Given the description of an element on the screen output the (x, y) to click on. 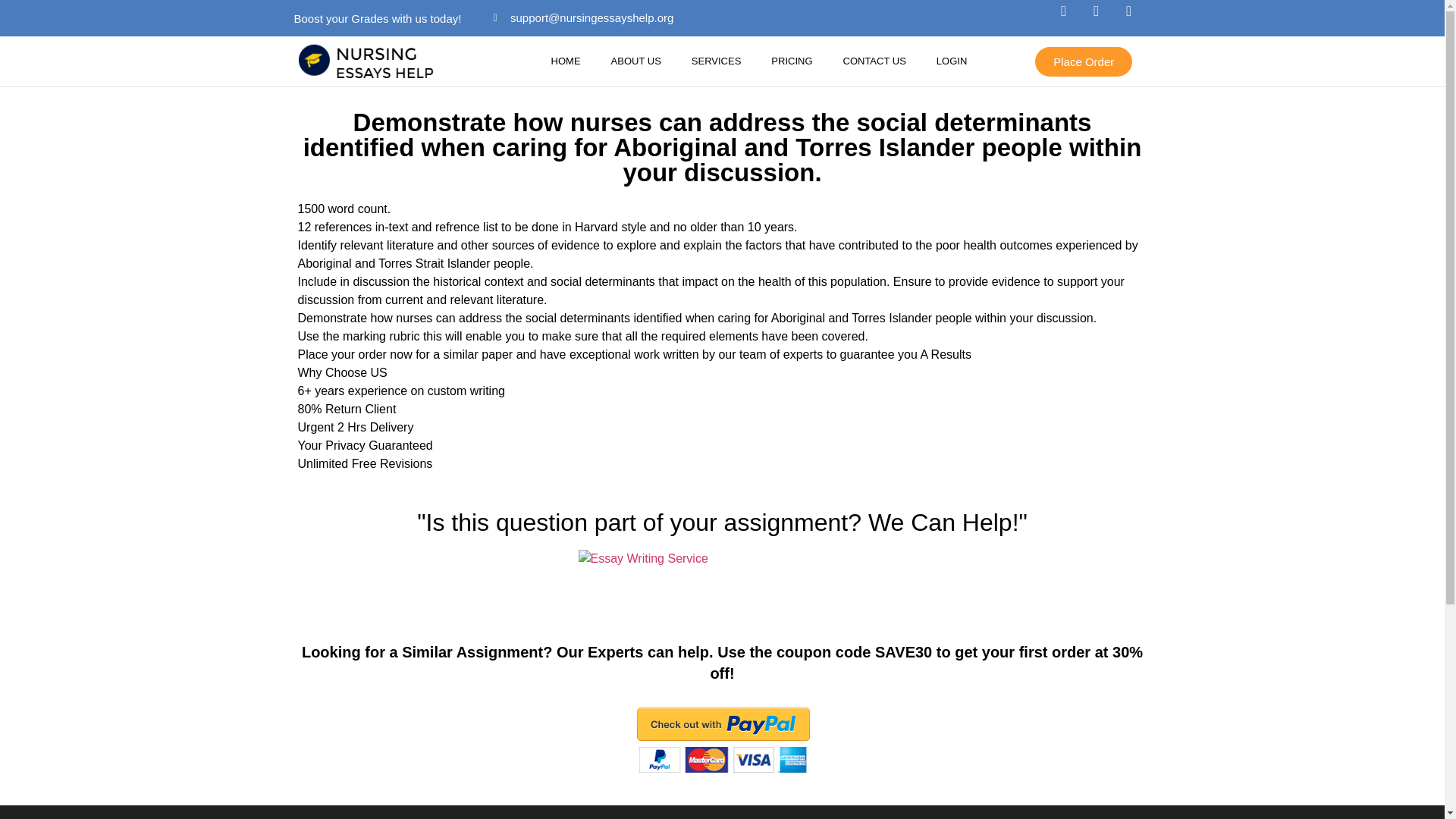
LOGIN (951, 61)
PRICING (791, 61)
CONTACT US (874, 61)
ABOUT US (636, 61)
Place Order (1083, 61)
SERVICES (717, 61)
HOME (565, 61)
